Given the description of an element on the screen output the (x, y) to click on. 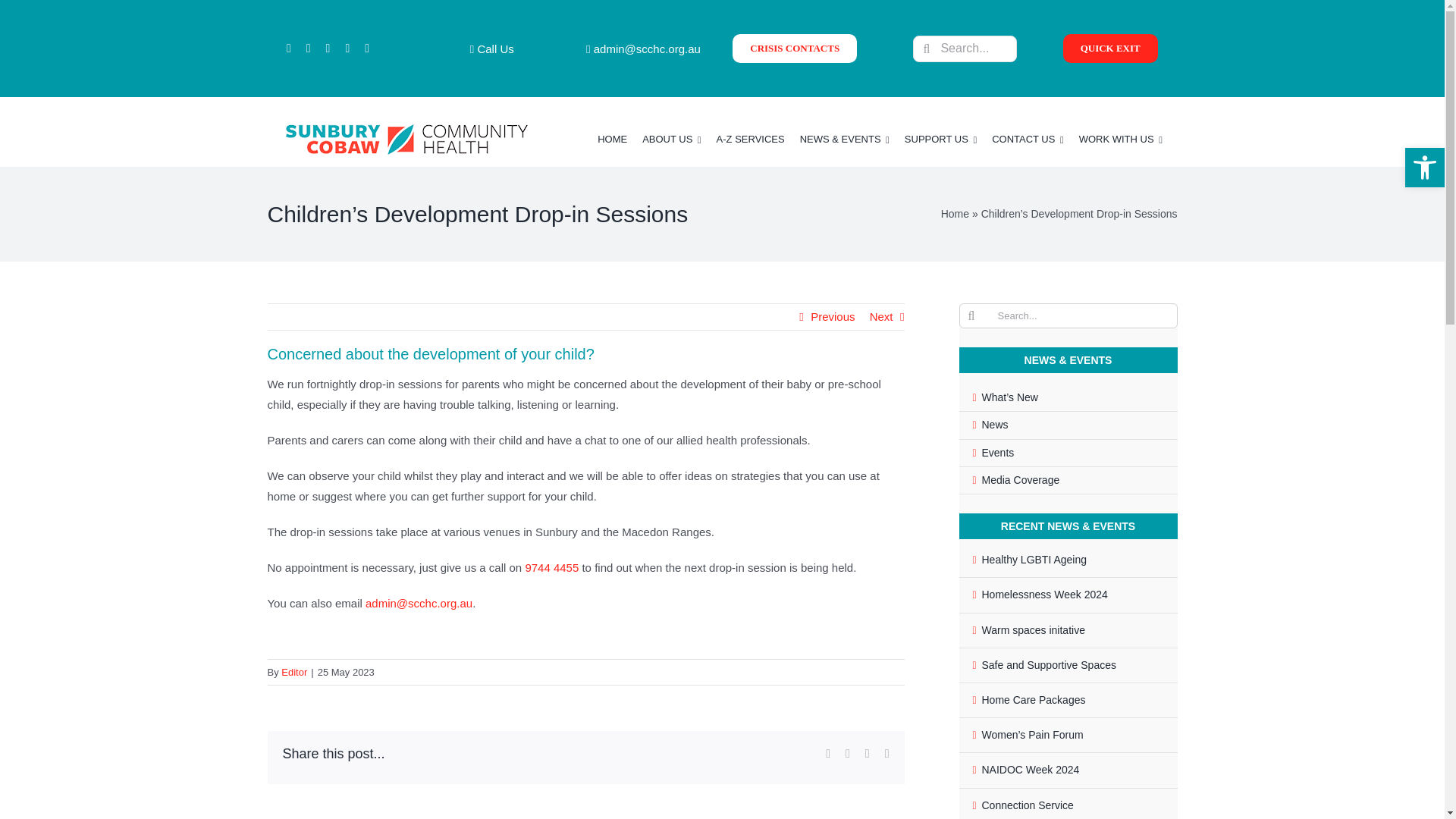
A-Z SERVICES (750, 138)
ABOUT US (671, 138)
Posts by Editor (294, 672)
CRISIS CONTACTS (794, 48)
QUICK EXIT (1109, 48)
Call Us (491, 48)
Accessibility Tools (1424, 167)
